Given the description of an element on the screen output the (x, y) to click on. 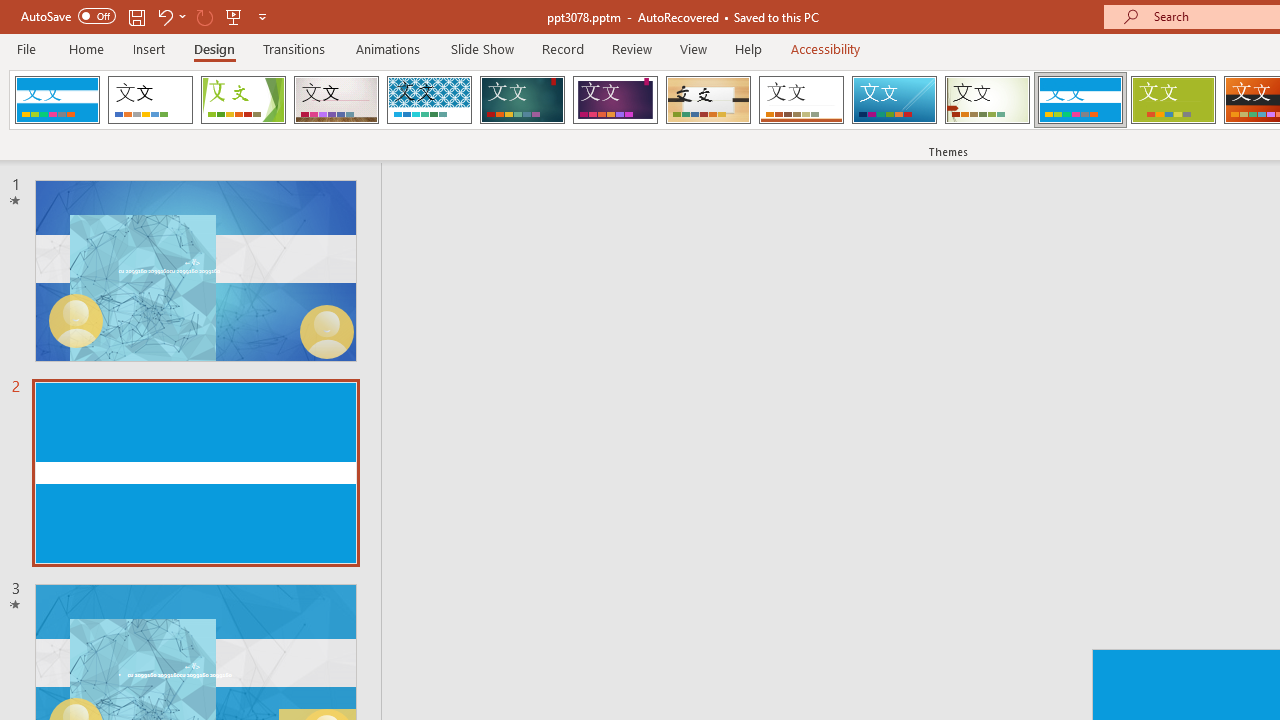
Ion Boardroom (615, 100)
